Given the description of an element on the screen output the (x, y) to click on. 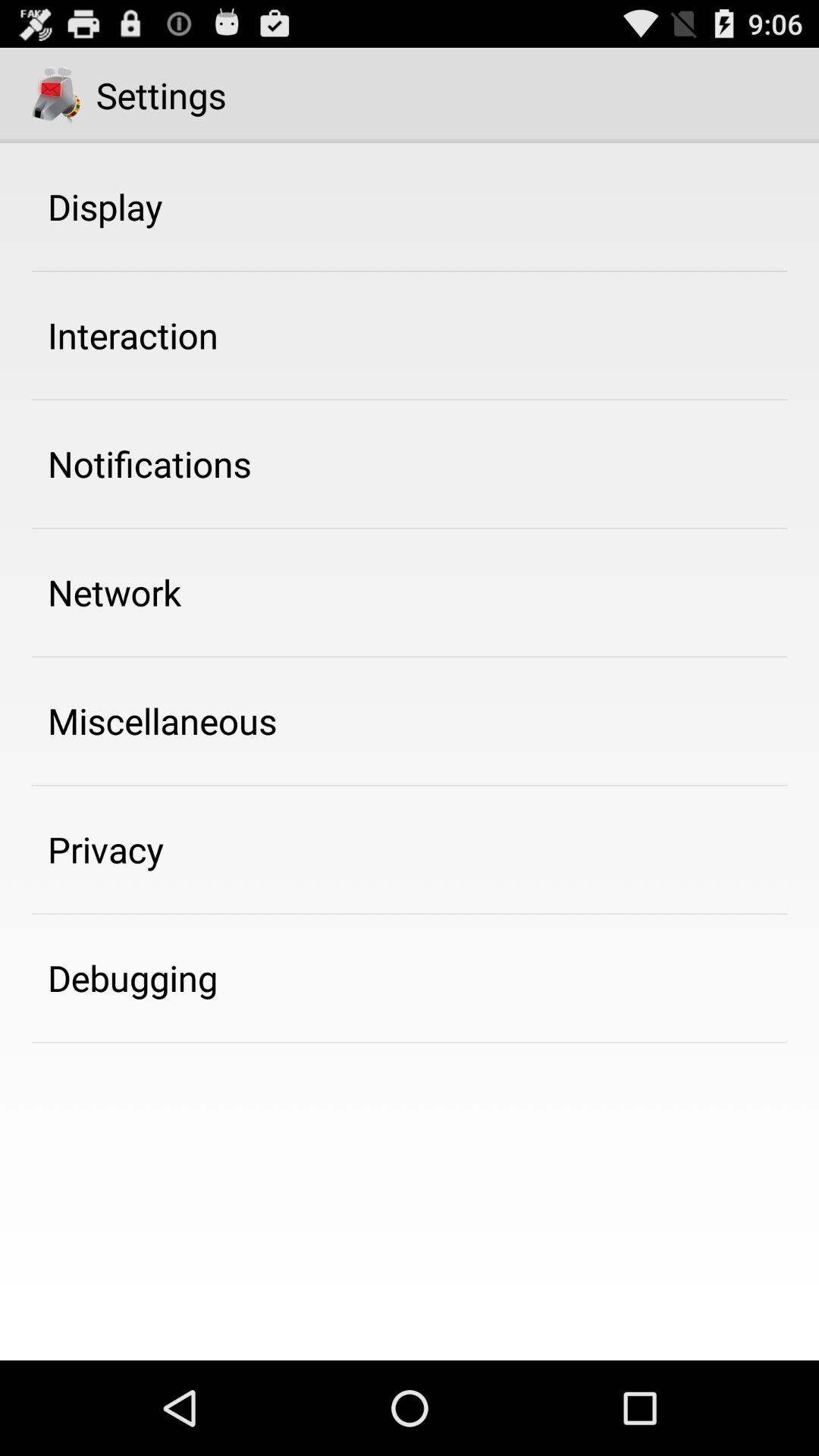
swipe to network (114, 592)
